Given the description of an element on the screen output the (x, y) to click on. 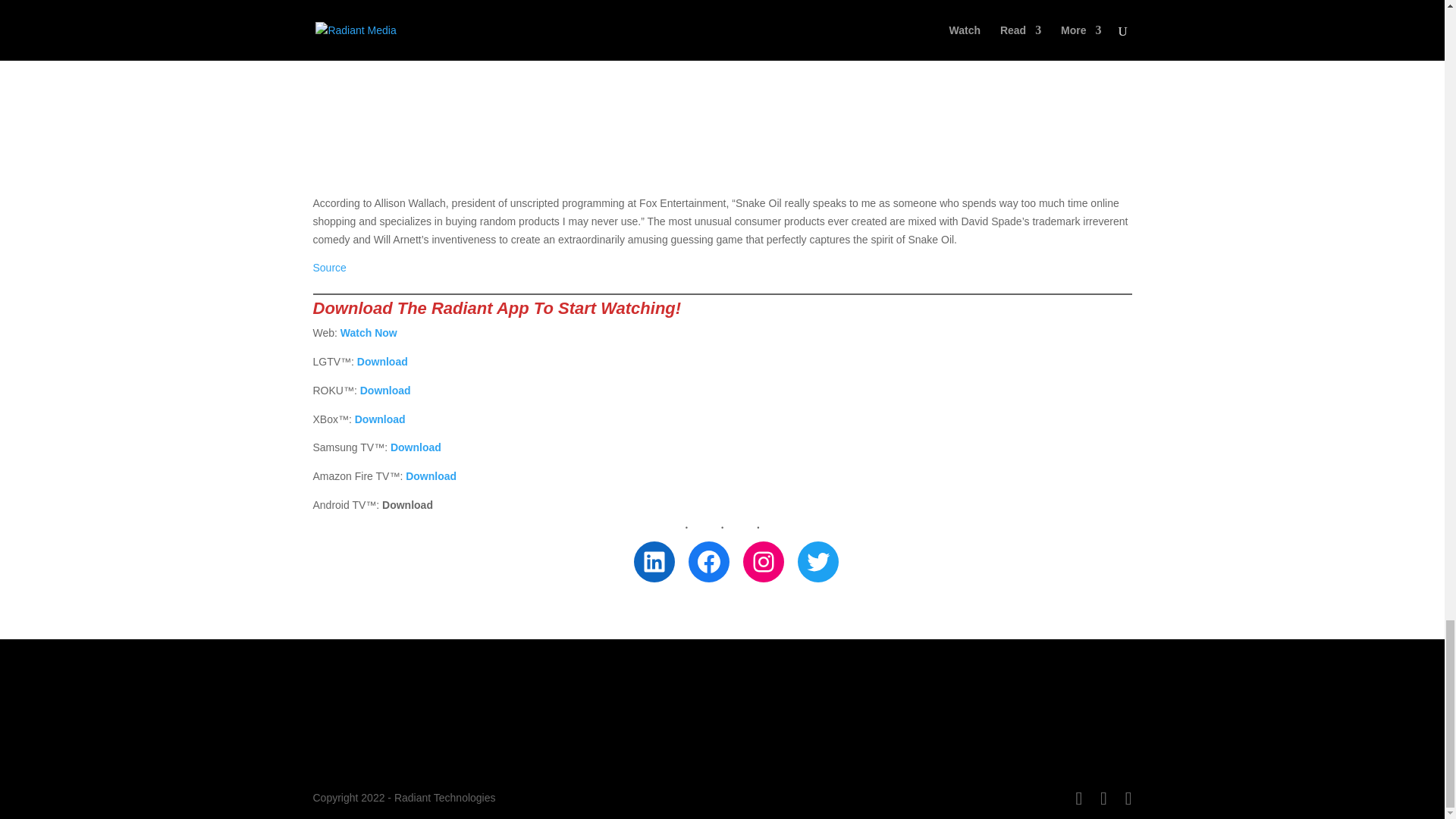
Download (380, 419)
Source (329, 267)
Watch Now (368, 332)
Download (415, 447)
Twitter (817, 561)
LinkedIn (654, 561)
Download (384, 390)
Download (381, 361)
Facebook (708, 561)
Instagram (763, 561)
